Given the description of an element on the screen output the (x, y) to click on. 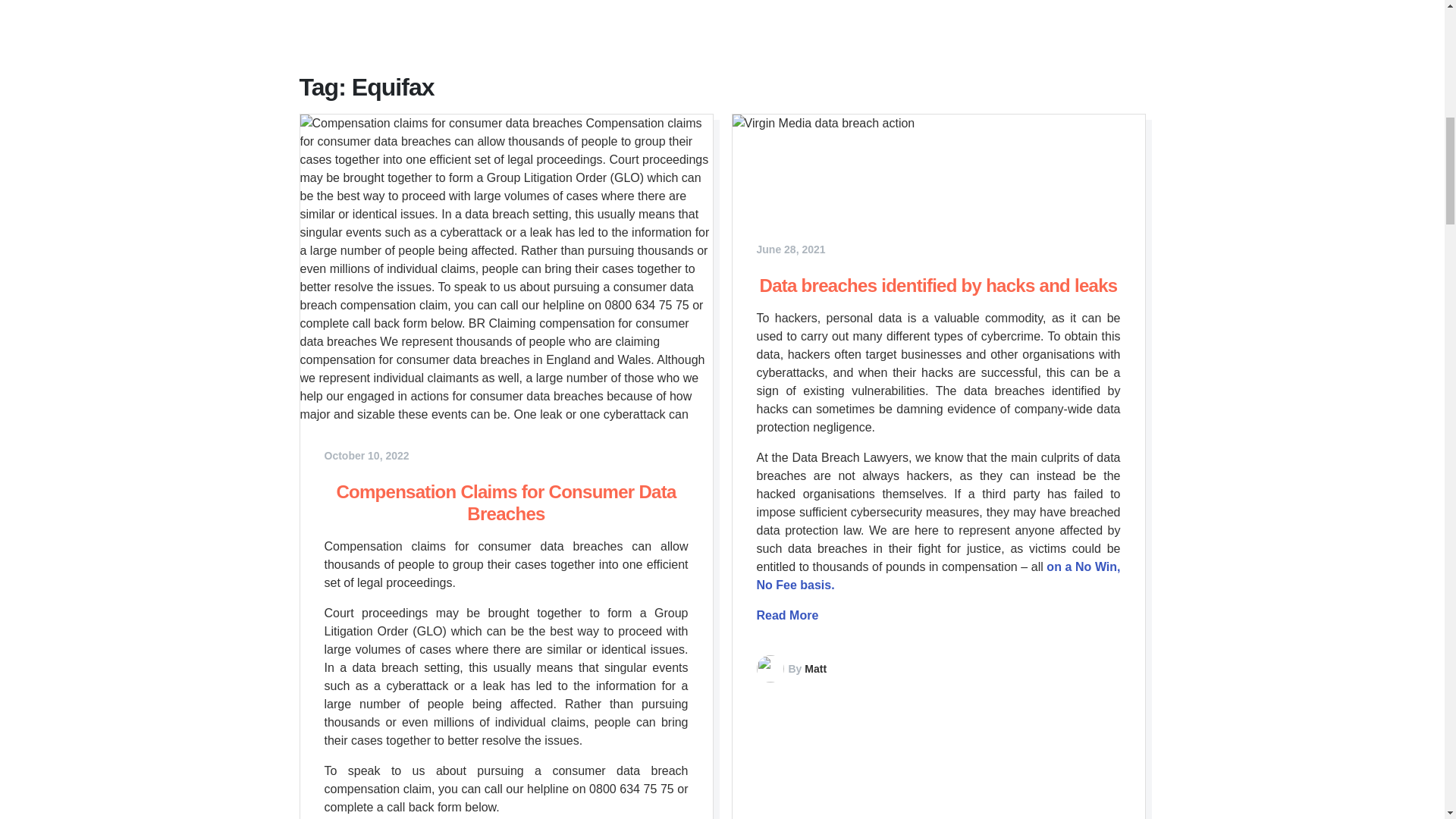
Data breaches identified by hacks and leaks (939, 285)
Compensation Claims for Consumer Data Breaches (505, 502)
on a No Win, No Fee basis. (939, 575)
Read More (787, 615)
